Given the description of an element on the screen output the (x, y) to click on. 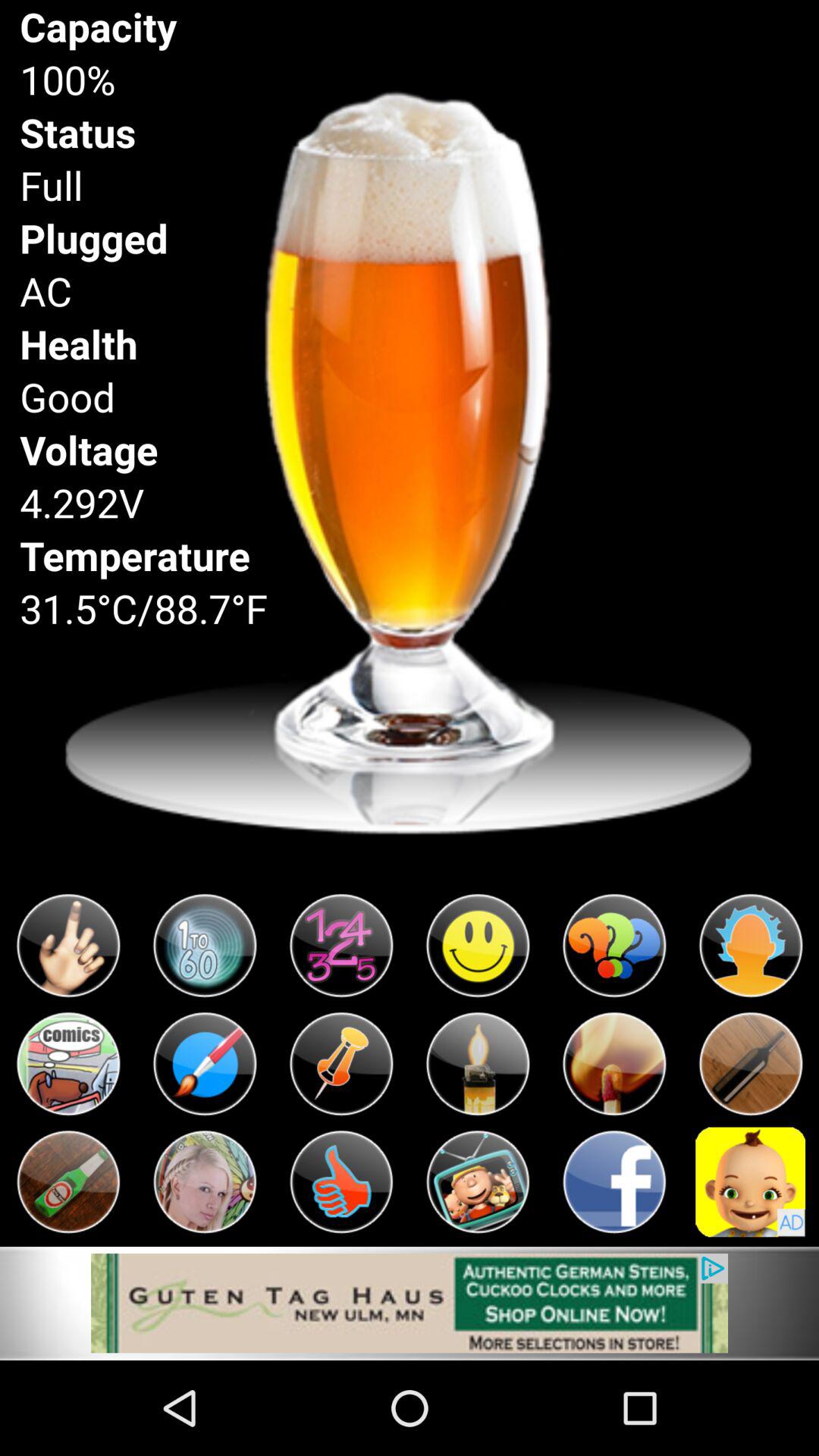
view blink option (204, 945)
